Given the description of an element on the screen output the (x, y) to click on. 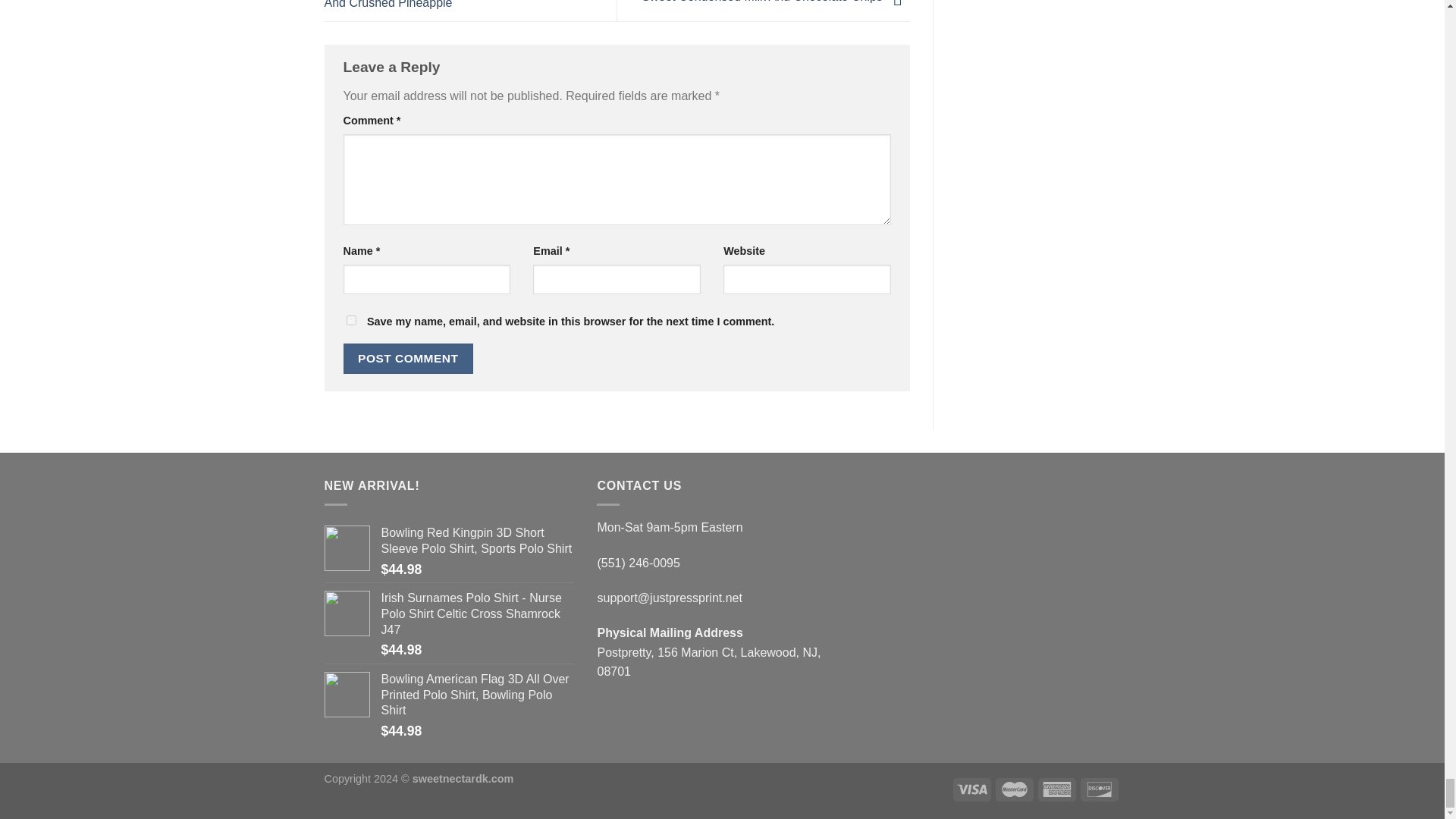
Post Comment (407, 358)
yes (350, 320)
Post Comment (407, 358)
